Given the description of an element on the screen output the (x, y) to click on. 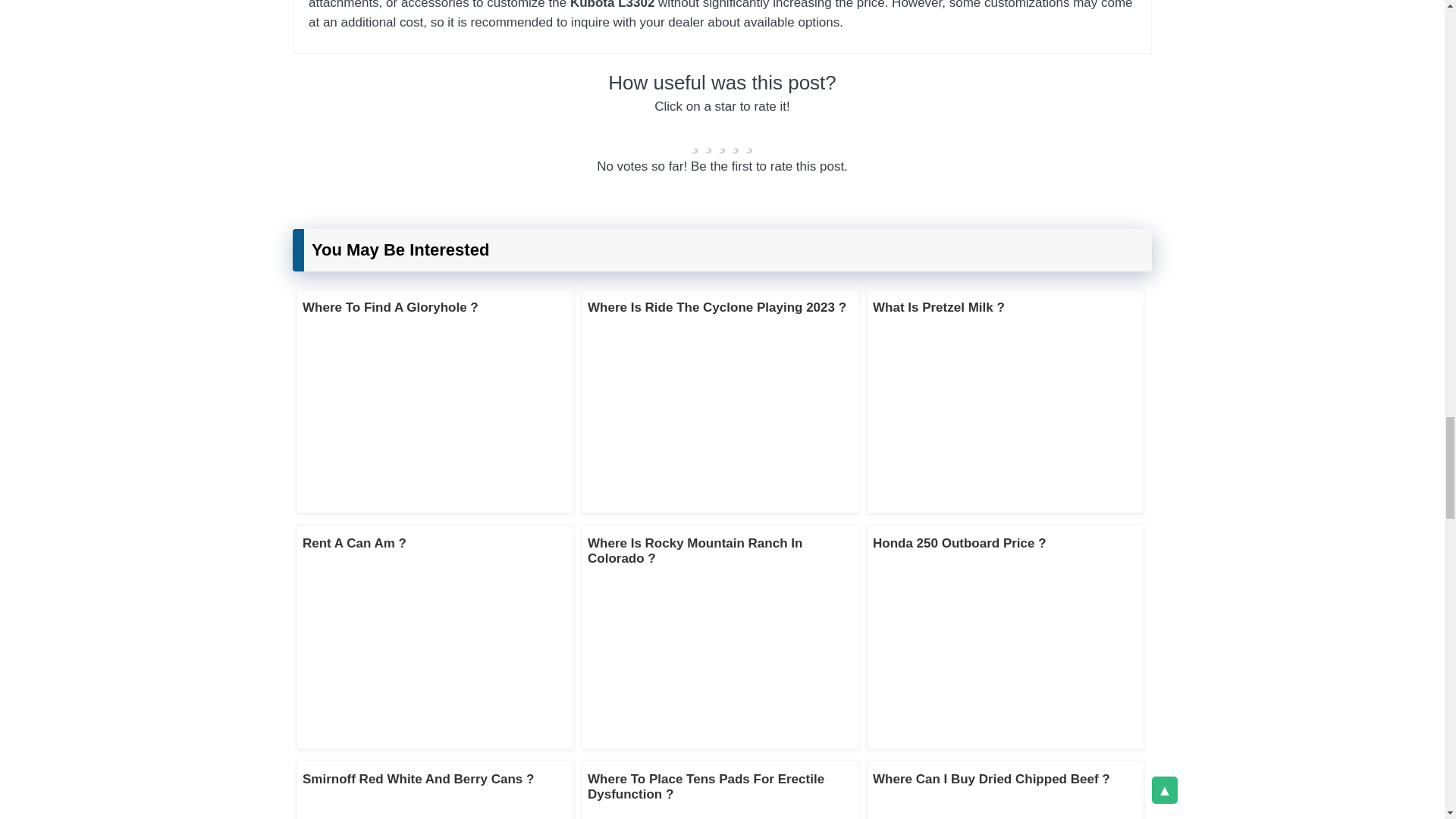
Where Is Ride The Cyclone Playing 2023 ? (716, 307)
Where To Place Tens Pads For Erectile Dysfunction ? (706, 786)
Where Is Ride The Cyclone Playing 2023 ? (716, 307)
Where Is Rocky Mountain Ranch In Colorado ? (695, 550)
Smirnoff Red White And Berry Cans ? (418, 779)
Smirnoff Red White And Berry Cans ? (418, 779)
Where To Find A Gloryhole ? (390, 307)
Where To Find A Gloryhole ? (390, 307)
Rent A Can Am ? (354, 543)
Rent A Can Am ? (354, 543)
Where To Place Tens Pads For Erectile Dysfunction ? (706, 786)
Where Is Rocky Mountain Ranch In Colorado ? (695, 550)
